Given the description of an element on the screen output the (x, y) to click on. 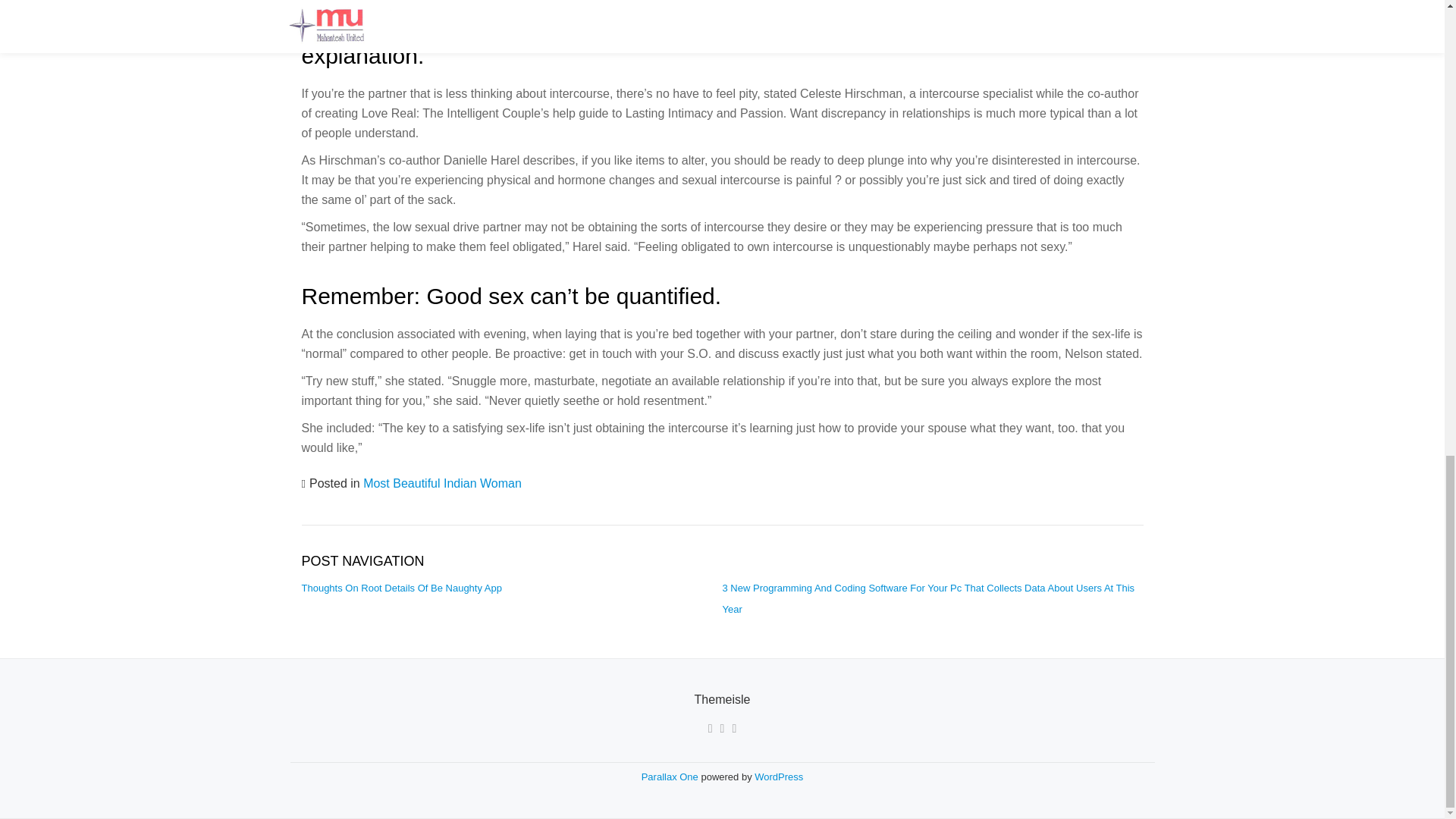
Most Beautiful Indian Woman (441, 482)
Parallax One (671, 776)
WordPress (778, 776)
Thoughts On Root Details Of Be Naughty App (401, 587)
